Given the description of an element on the screen output the (x, y) to click on. 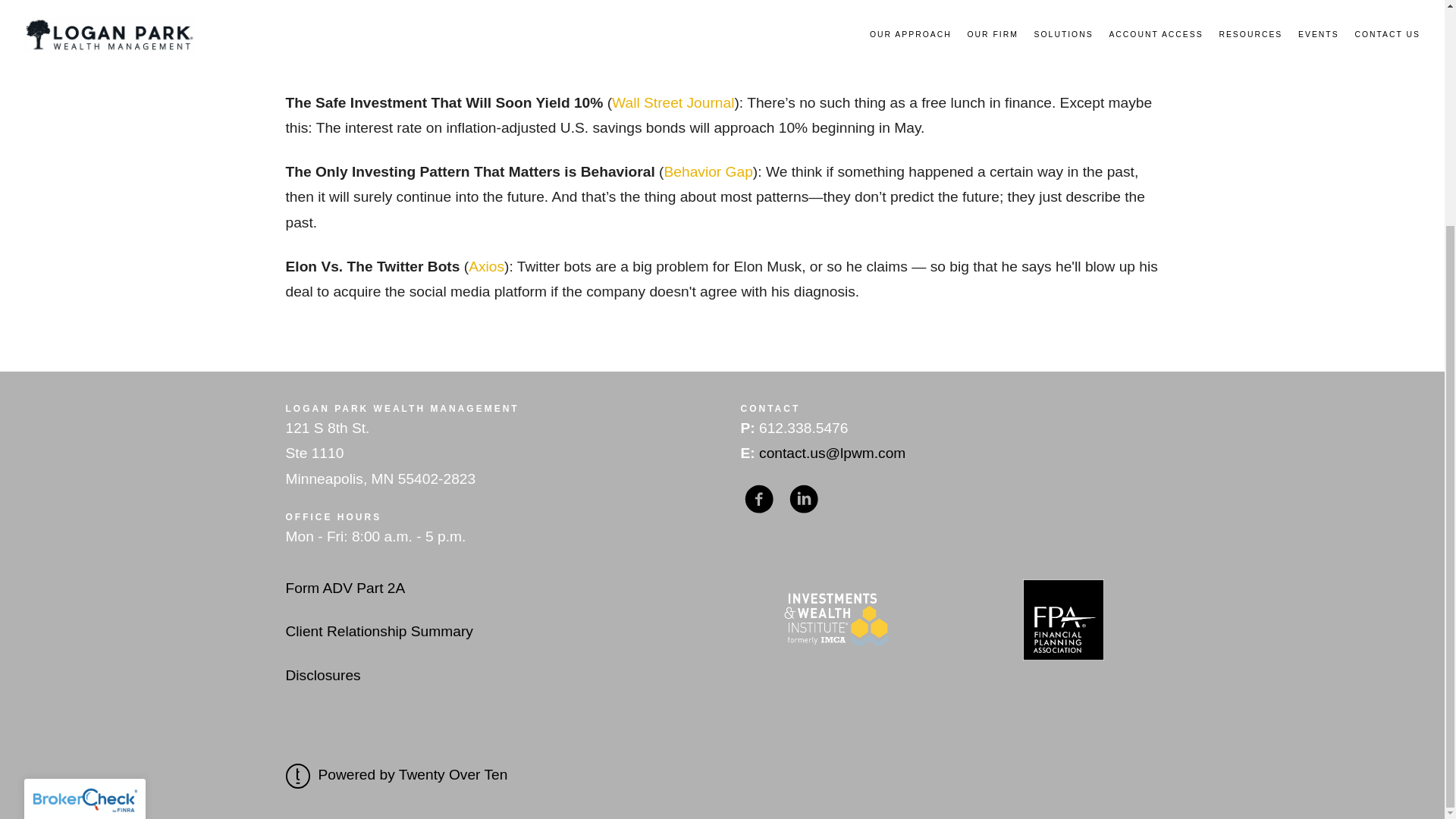
The Irrelevant Investor (522, 32)
Form ADV Part 2A (344, 587)
Axios (485, 266)
Behavior Gap (707, 171)
Disclosures (322, 675)
Wall Street Journal (672, 102)
Client Relationship Summary (378, 631)
